Given the description of an element on the screen output the (x, y) to click on. 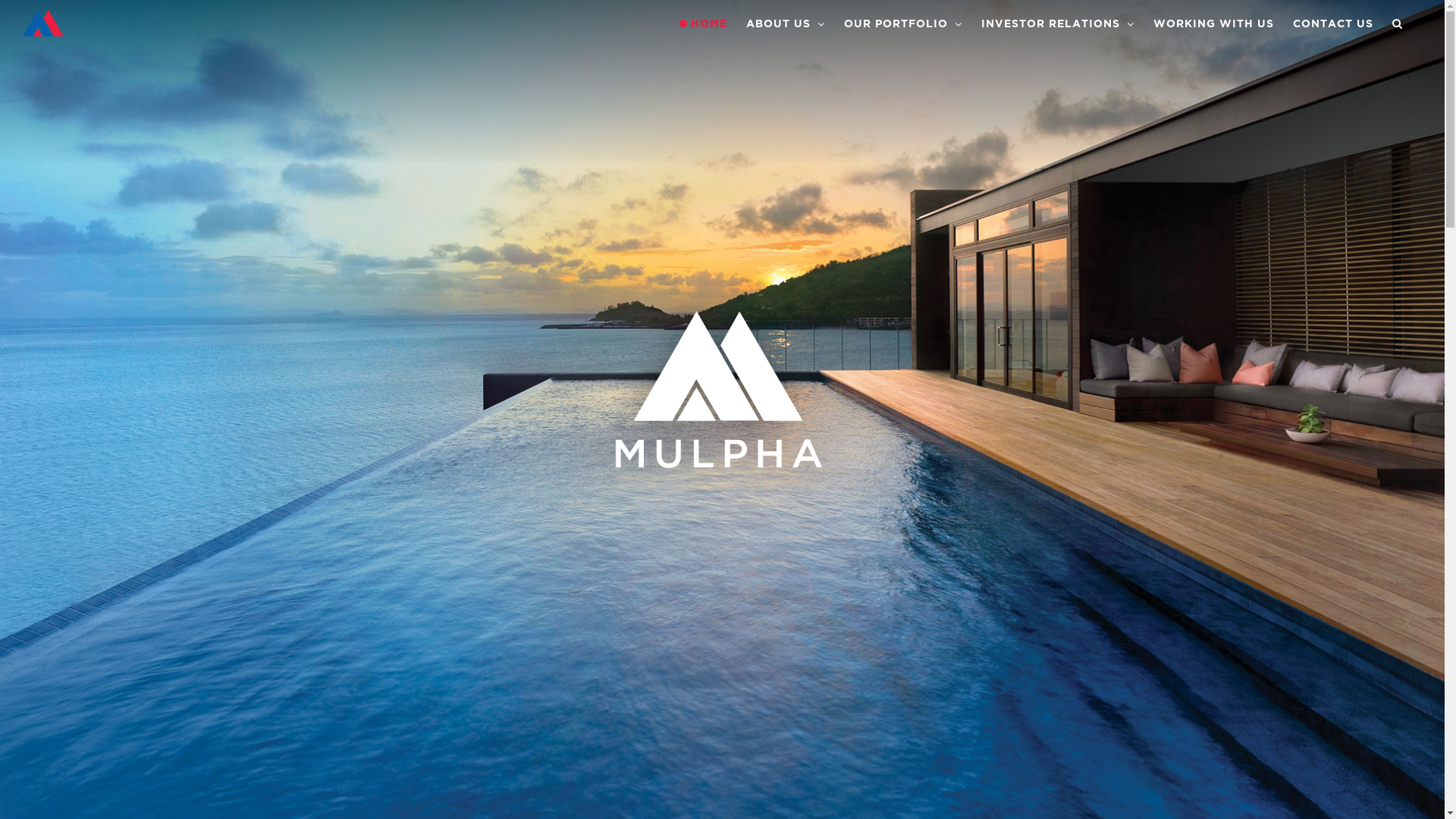
CONTACT US Element type: text (1332, 23)
WORKING WITH US Element type: text (1213, 23)
OUR PORTFOLIO Element type: text (903, 23)
Search Element type: hover (1397, 23)
HOME Element type: text (703, 23)
ABOUT US Element type: text (785, 23)
INVESTOR RELATIONS Element type: text (1057, 23)
